Given the description of an element on the screen output the (x, y) to click on. 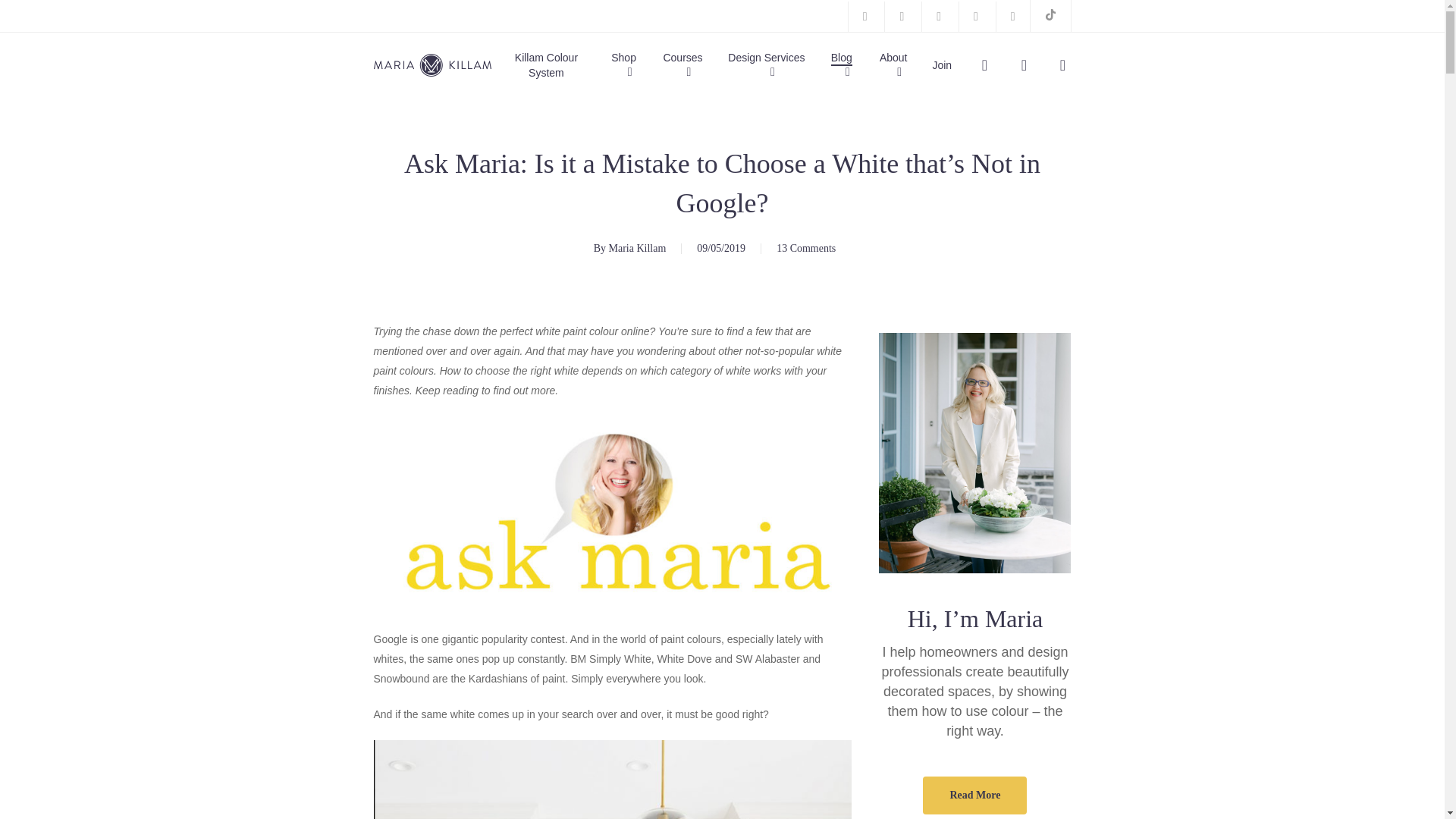
Blog (844, 64)
Shop (627, 64)
About (897, 64)
Courses (686, 64)
Killam Colour System (546, 64)
Posts by Maria Killam (637, 247)
Design Services (769, 64)
